Given the description of an element on the screen output the (x, y) to click on. 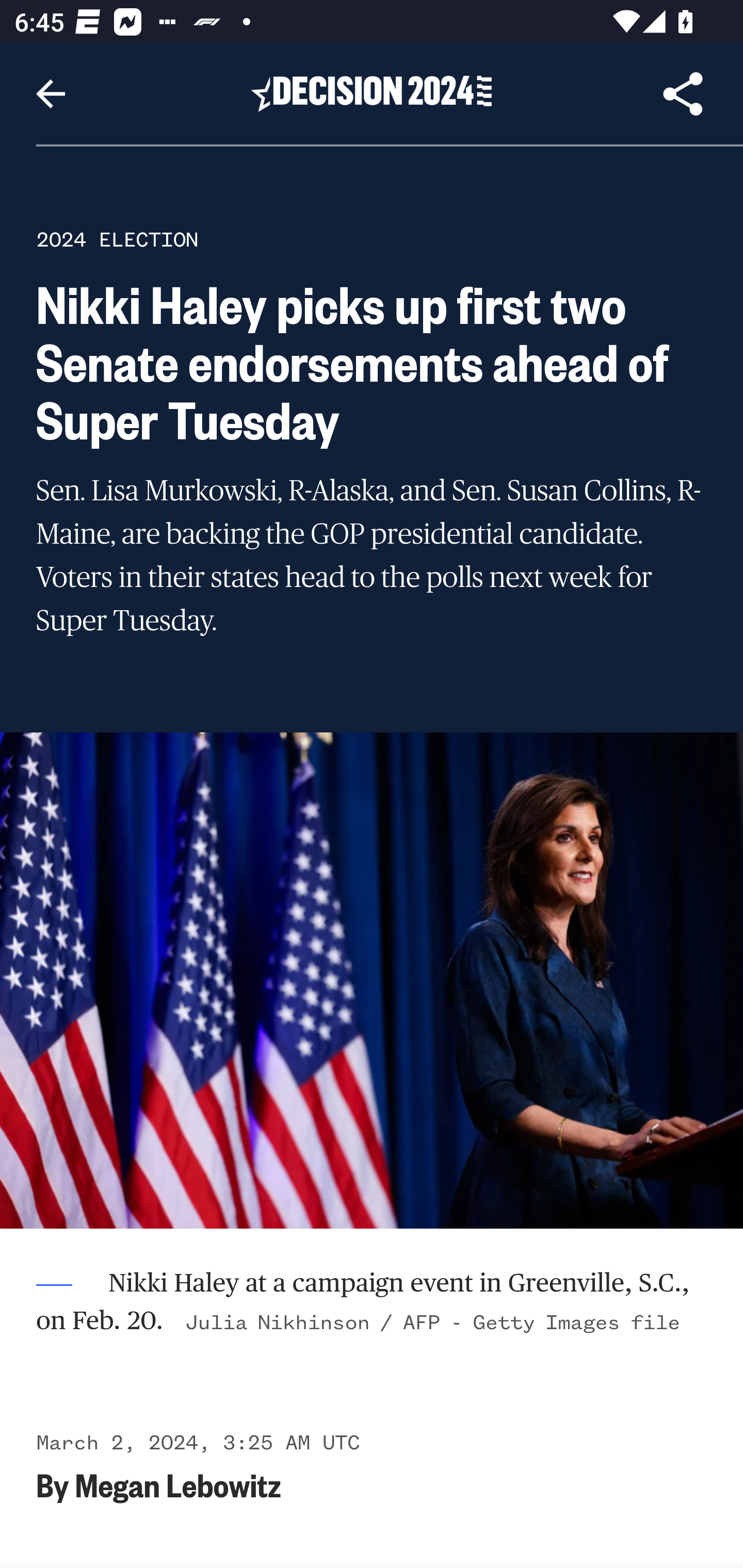
Navigate up (50, 93)
Share Article, button (683, 94)
Header, Decision 2024 (371, 93)
2024 ELECTION (117, 239)
